Given the description of an element on the screen output the (x, y) to click on. 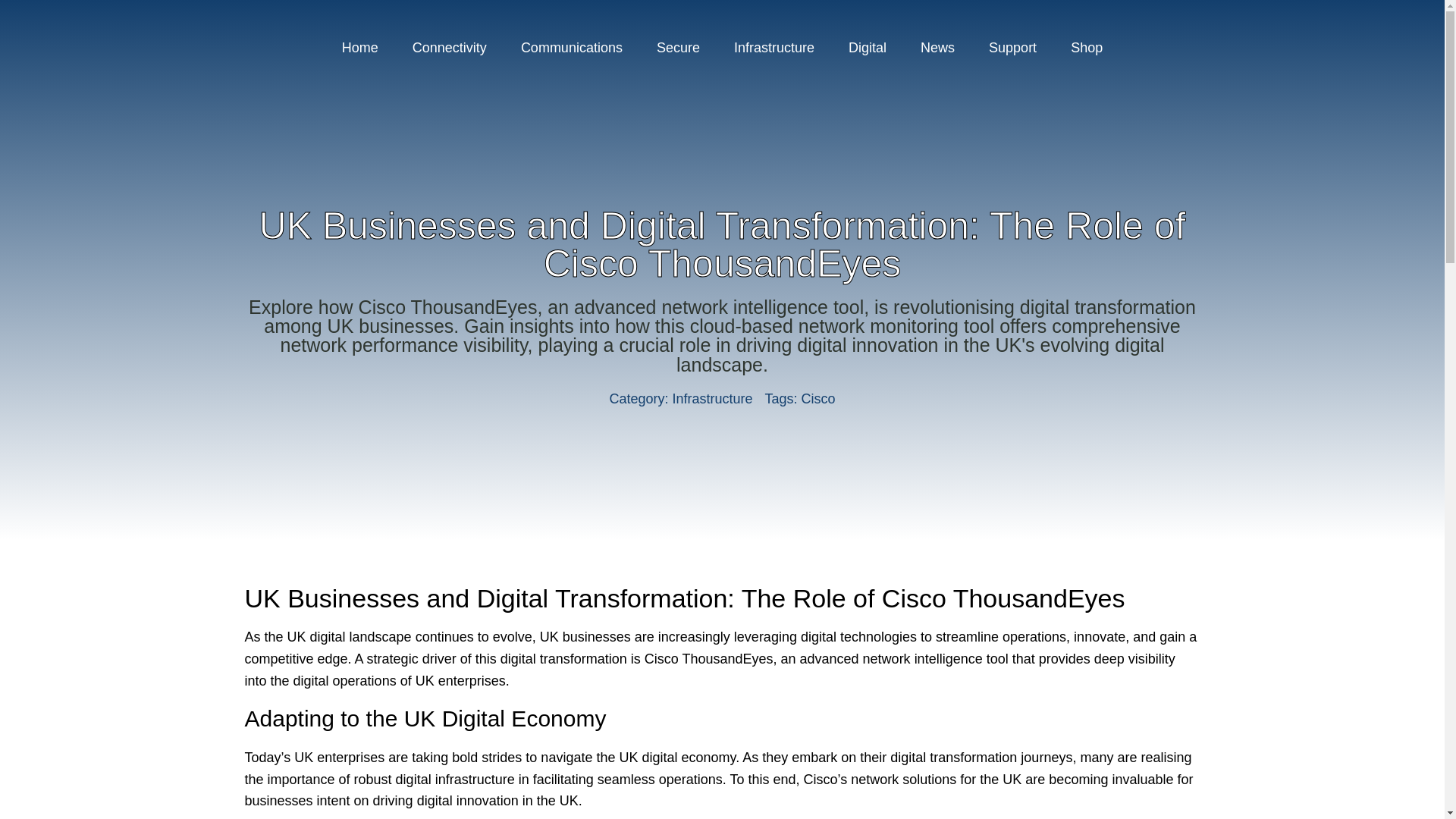
Secure (678, 47)
Infrastructure (774, 47)
Connectivity (449, 47)
Shop (1086, 47)
Support (1012, 47)
Home (359, 47)
Digital (866, 47)
Communications (571, 47)
Cisco (818, 398)
Infrastructure (711, 398)
